Given the description of an element on the screen output the (x, y) to click on. 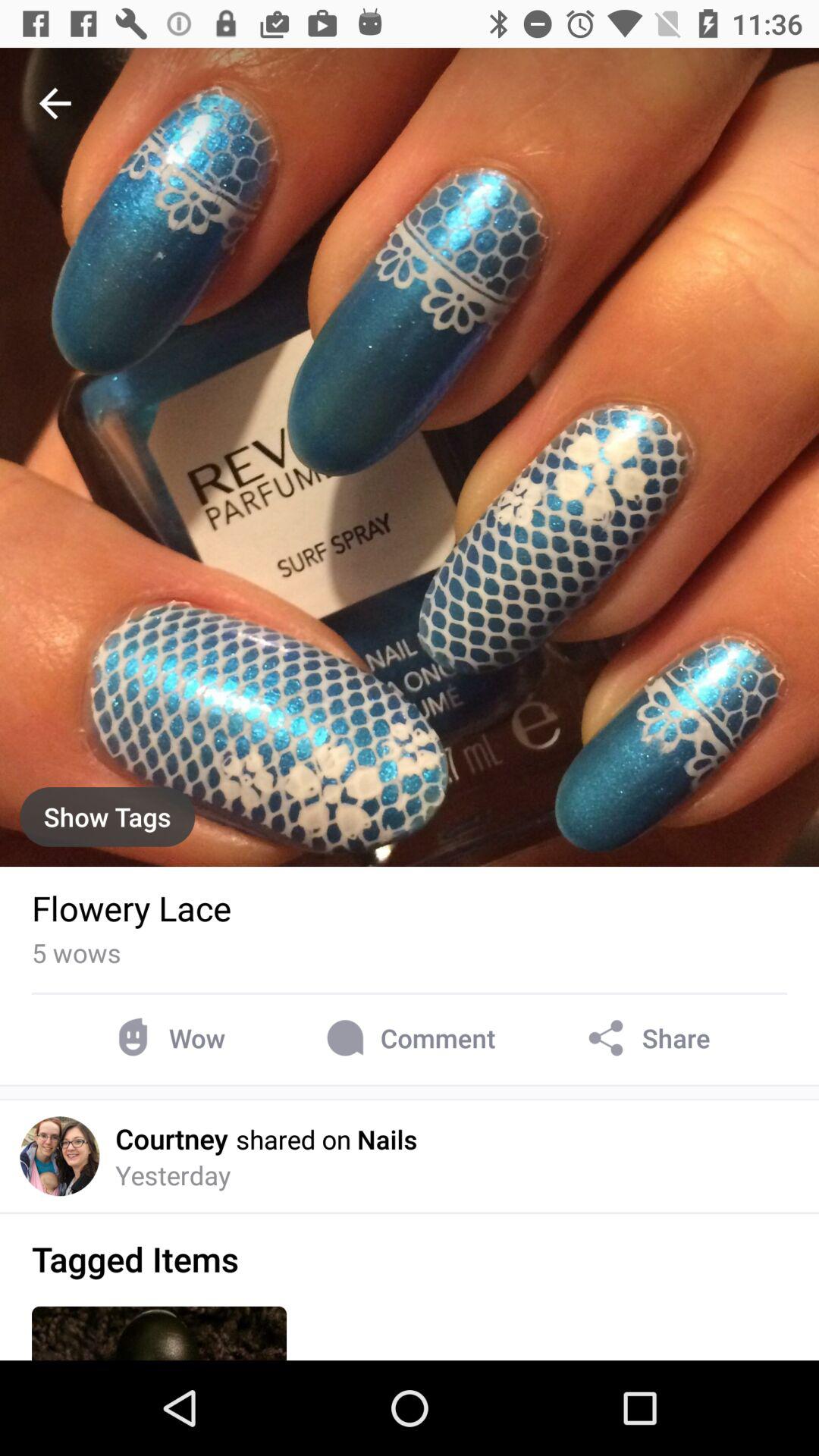
turn off the item to the right of the wow item (407, 1038)
